Given the description of an element on the screen output the (x, y) to click on. 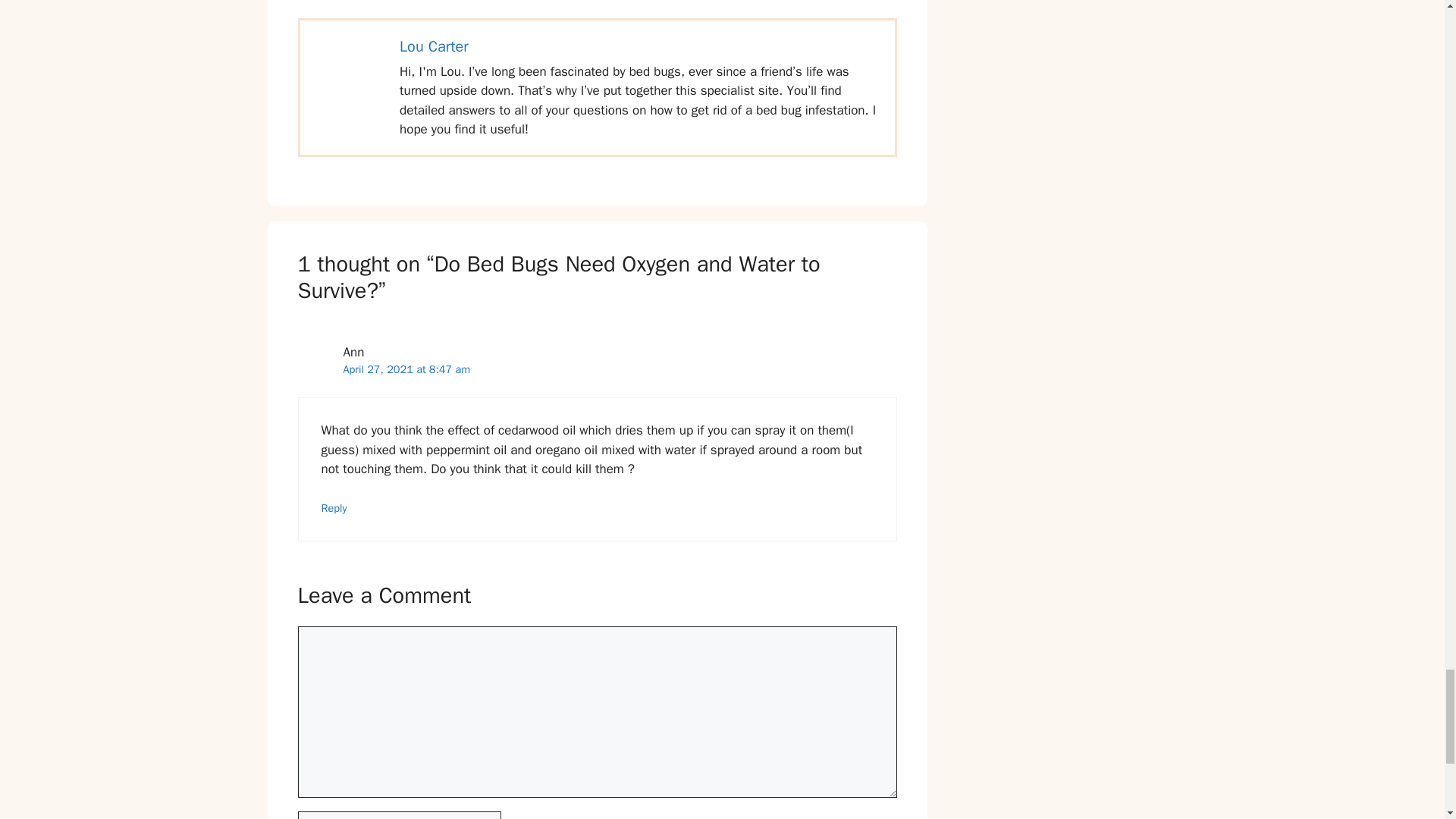
Reply (334, 508)
Lou Carter (433, 46)
April 27, 2021 at 8:47 am (406, 368)
